Given the description of an element on the screen output the (x, y) to click on. 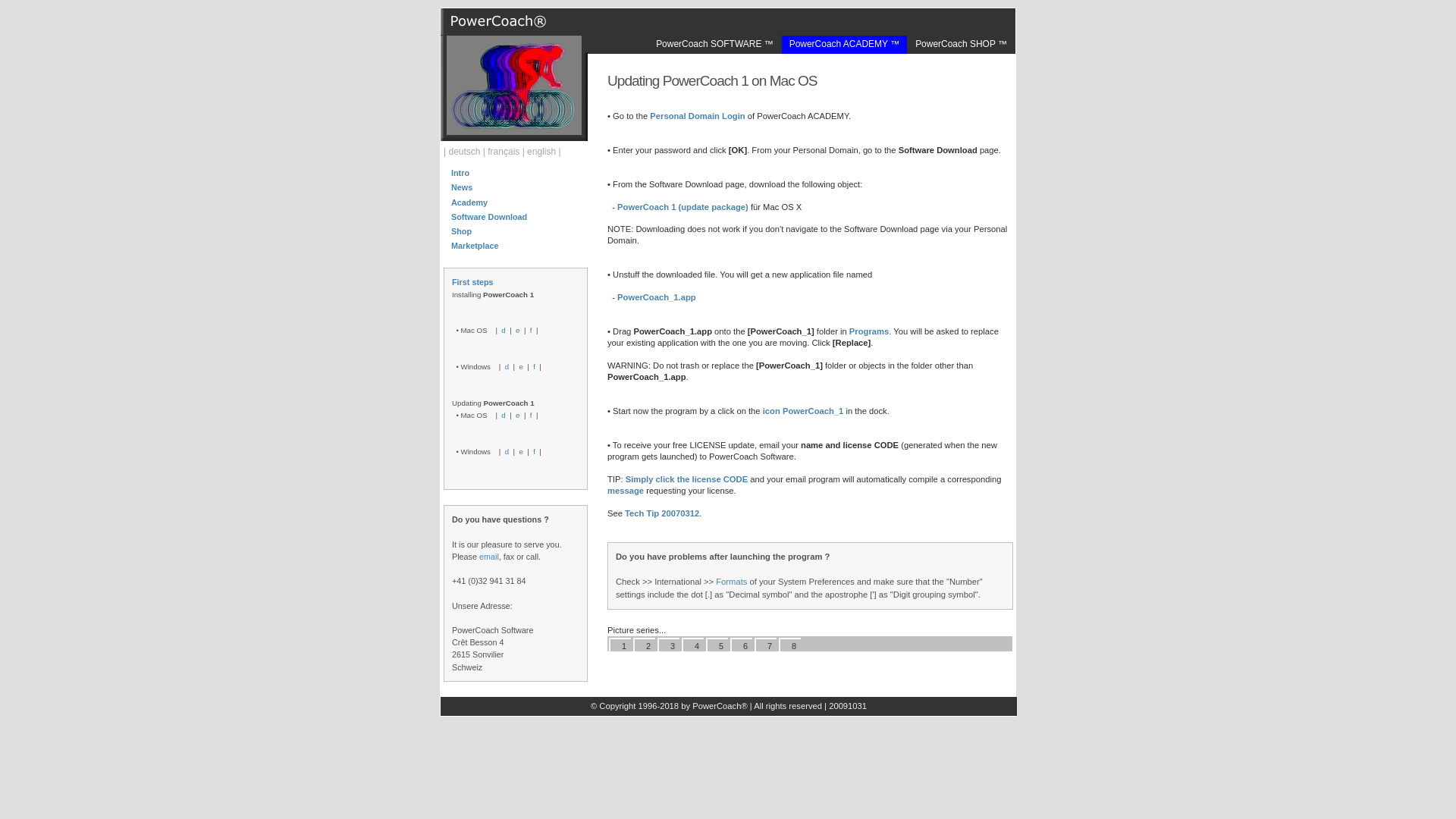
Personal Domain Login (696, 115)
Academy (469, 202)
Tech Tip 20070312 (661, 512)
Programs (868, 330)
News (461, 186)
 5 (719, 646)
 6 (744, 646)
Formats (731, 581)
Marketplace (474, 245)
Simply click the license CODE (687, 479)
